Given the description of an element on the screen output the (x, y) to click on. 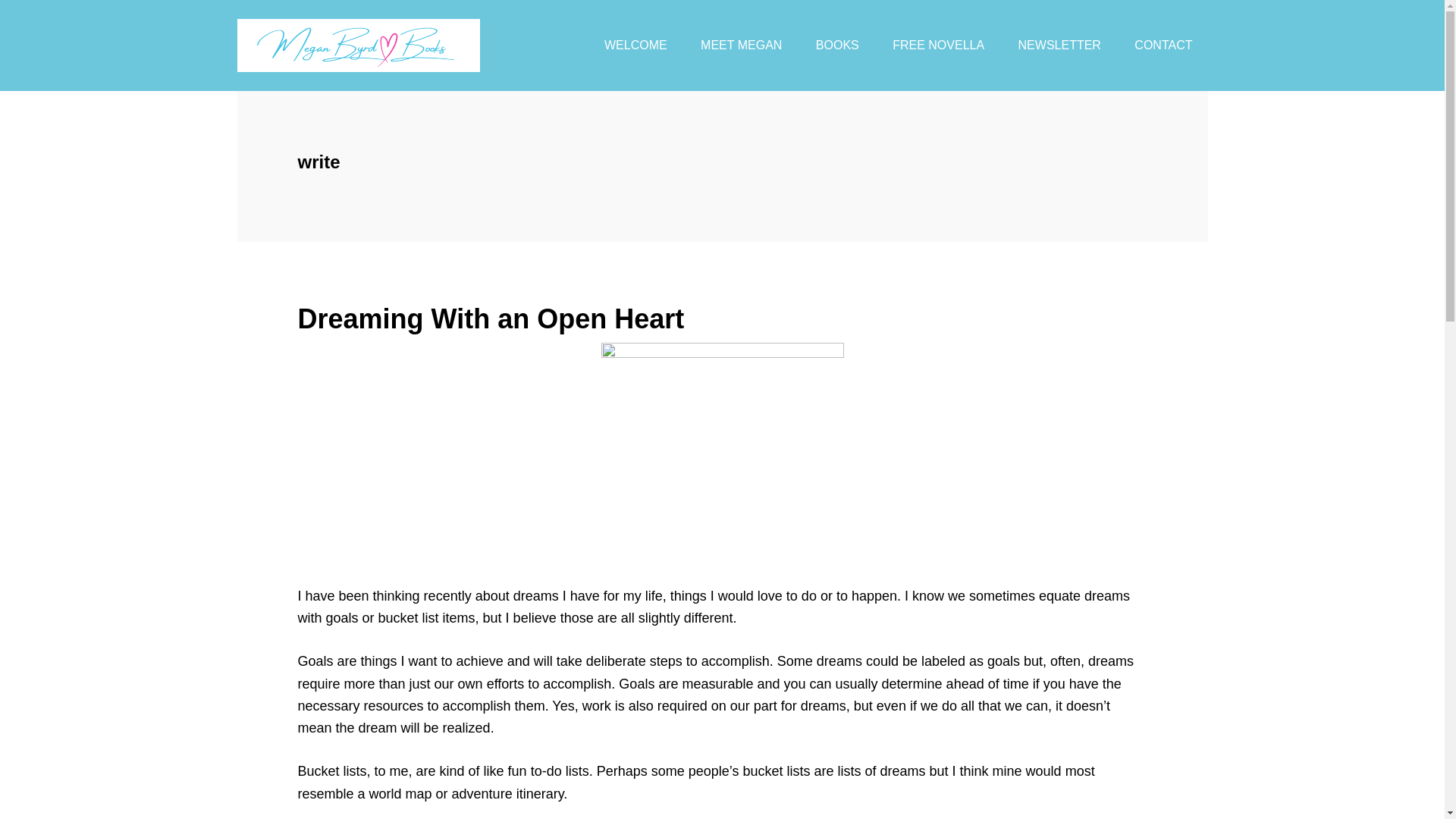
Megan Byrd (357, 45)
NEWSLETTER (1059, 45)
FREE NOVELLA (937, 45)
WELCOME (635, 45)
MEET MEGAN (740, 45)
Dreaming With an Open Heart (490, 318)
CONTACT (1163, 45)
